Given the description of an element on the screen output the (x, y) to click on. 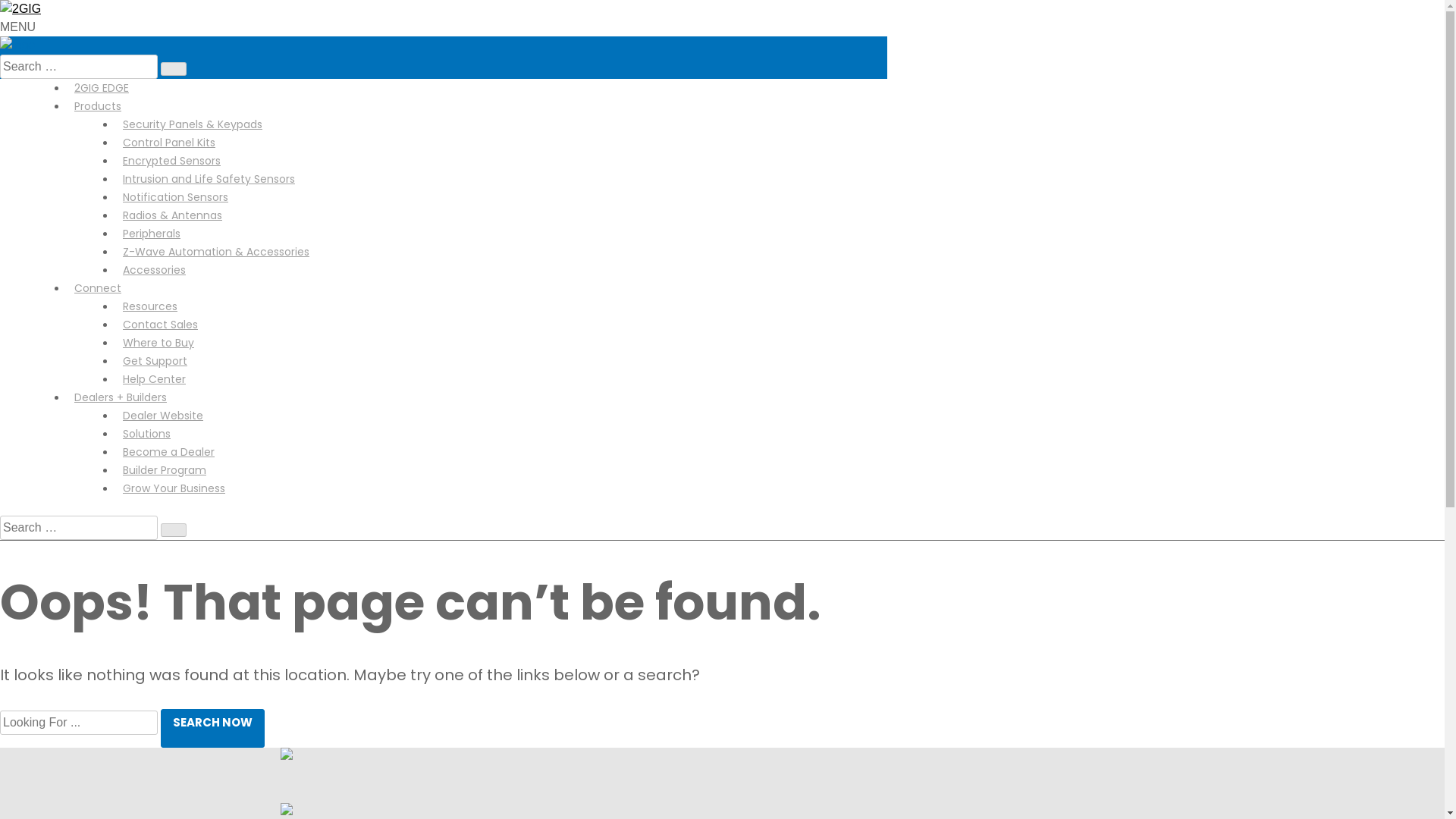
Dealer Website Element type: text (162, 415)
2GIG Element type: hover (17, 44)
Notification Sensors Element type: text (175, 196)
Where to Buy Element type: text (158, 342)
Help Center Element type: text (154, 378)
2GIG Element type: hover (20, 8)
Builder Program Element type: text (164, 469)
Z-Wave Automation & Accessories Element type: text (215, 251)
Grow Your Business Element type: text (173, 487)
Become a Dealer Element type: text (168, 451)
Radios & Antennas Element type: text (172, 214)
Contact Sales Element type: text (160, 324)
Products Element type: text (97, 105)
Peripherals Element type: text (151, 233)
2GIG EDGE Element type: text (101, 87)
SEARCH NOW Element type: text (212, 728)
Accessories Element type: text (154, 269)
Intrusion and Life Safety Sensors Element type: text (208, 178)
Connect Element type: text (97, 287)
Control Panel Kits Element type: text (168, 142)
Security Panels & Keypads Element type: text (192, 123)
Get Support Element type: text (154, 360)
Dealers + Builders Element type: text (120, 396)
Encrypted Sensors Element type: text (171, 160)
Solutions Element type: text (146, 433)
Resources Element type: text (150, 305)
